Given the description of an element on the screen output the (x, y) to click on. 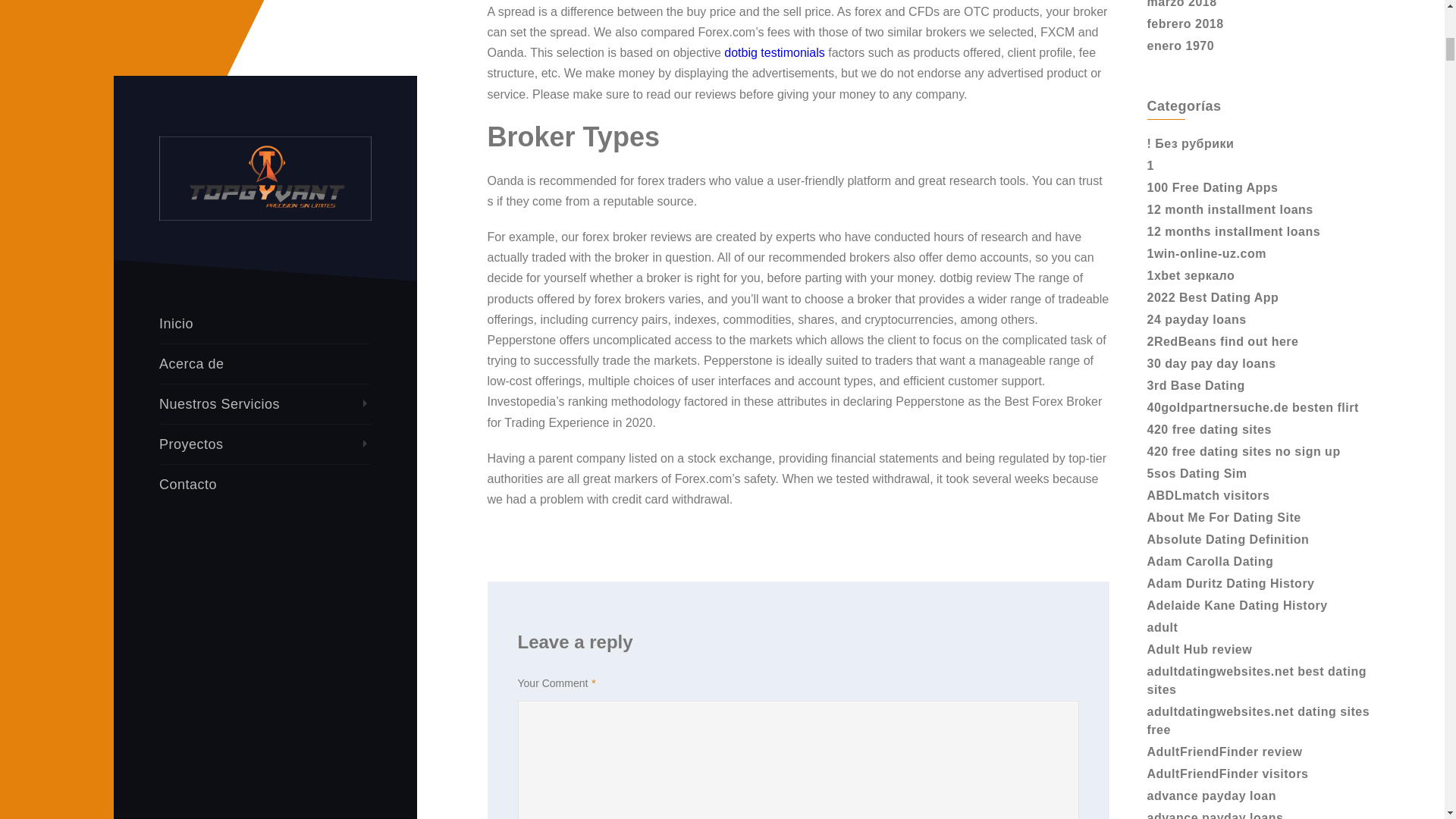
dotbig testimonials (774, 51)
